Given the description of an element on the screen output the (x, y) to click on. 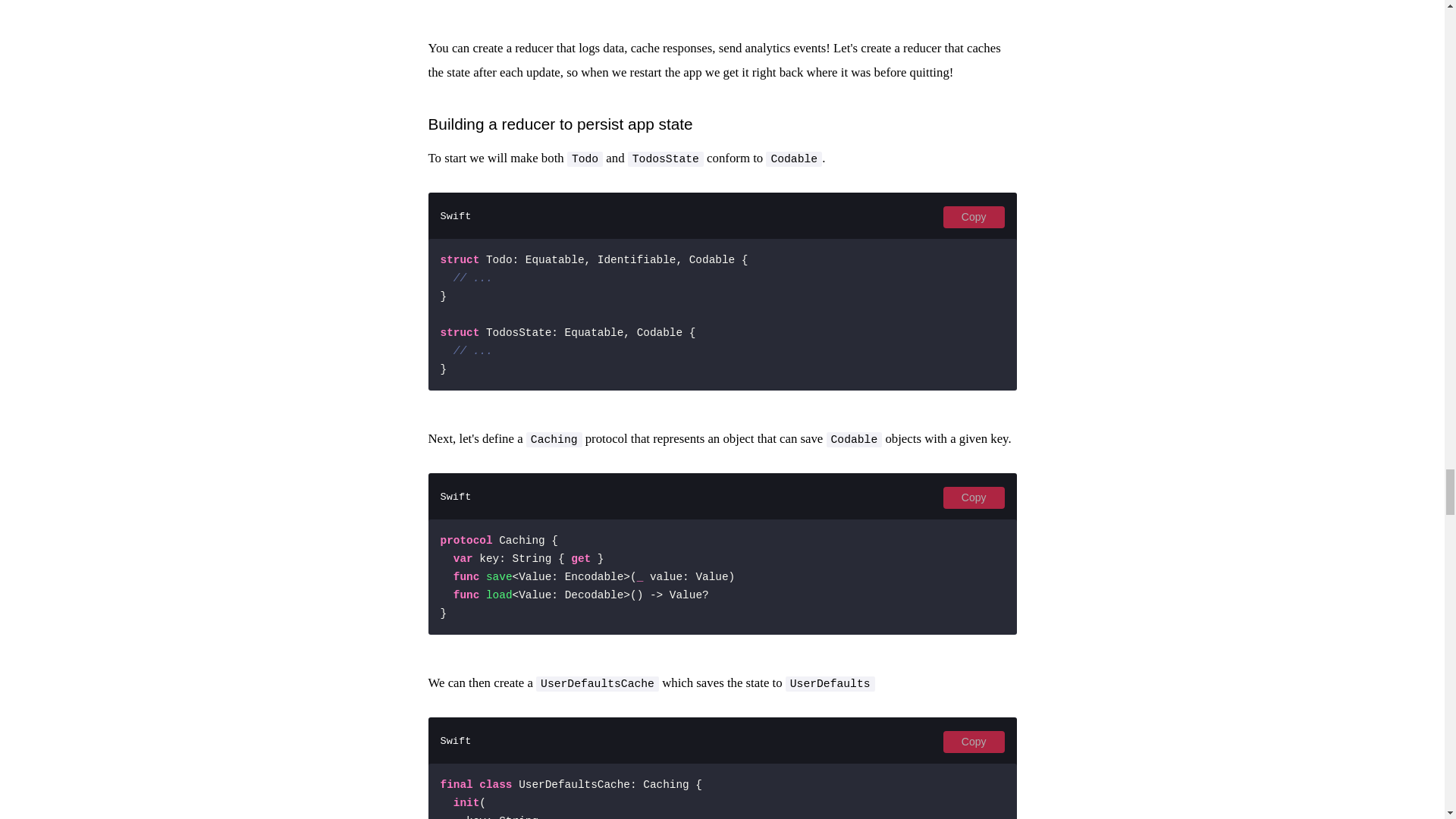
Copy (973, 741)
Copy (973, 497)
Copy (973, 217)
